Given the description of an element on the screen output the (x, y) to click on. 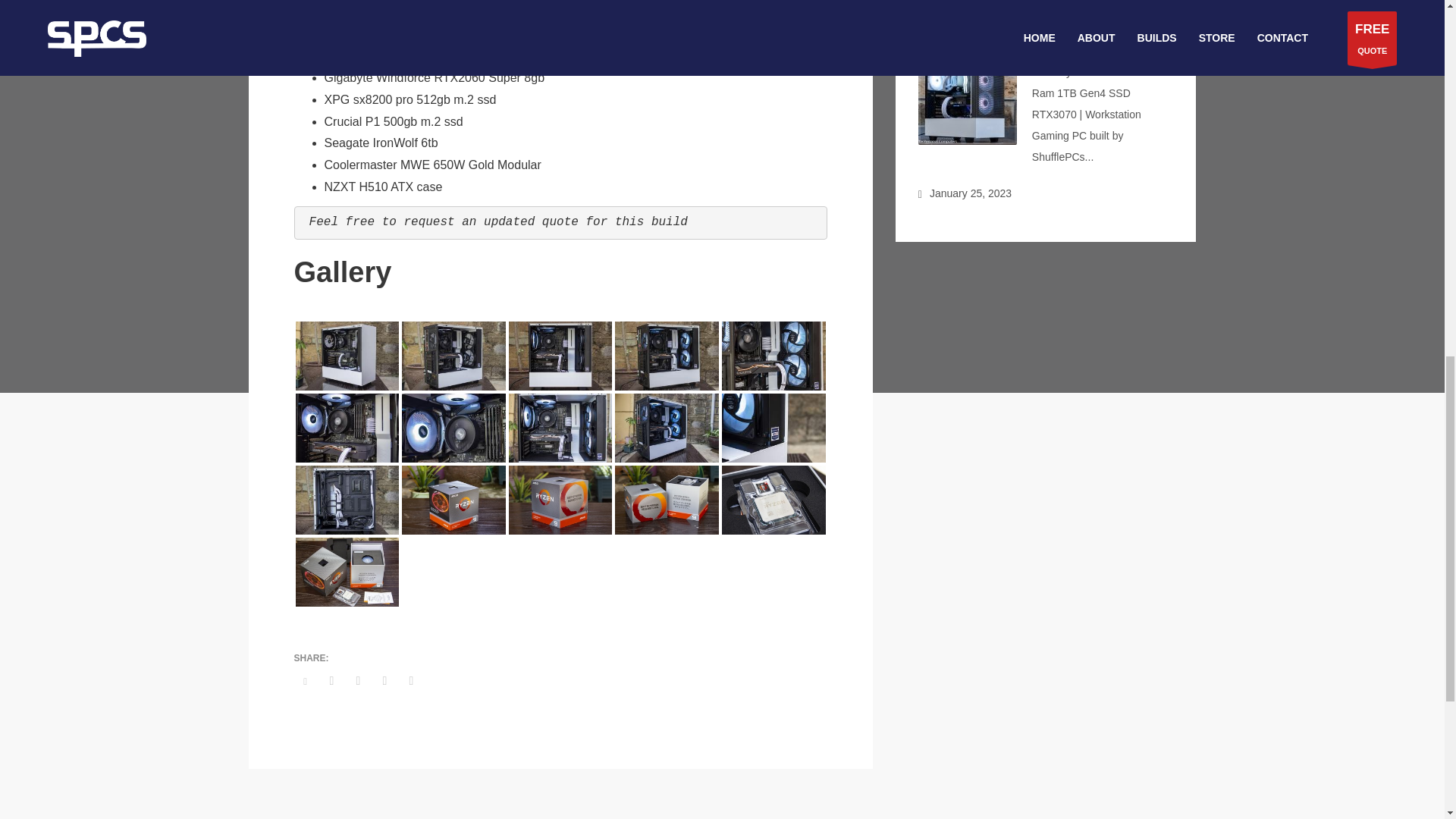
Project GHOST (1067, 49)
